Given the description of an element on the screen output the (x, y) to click on. 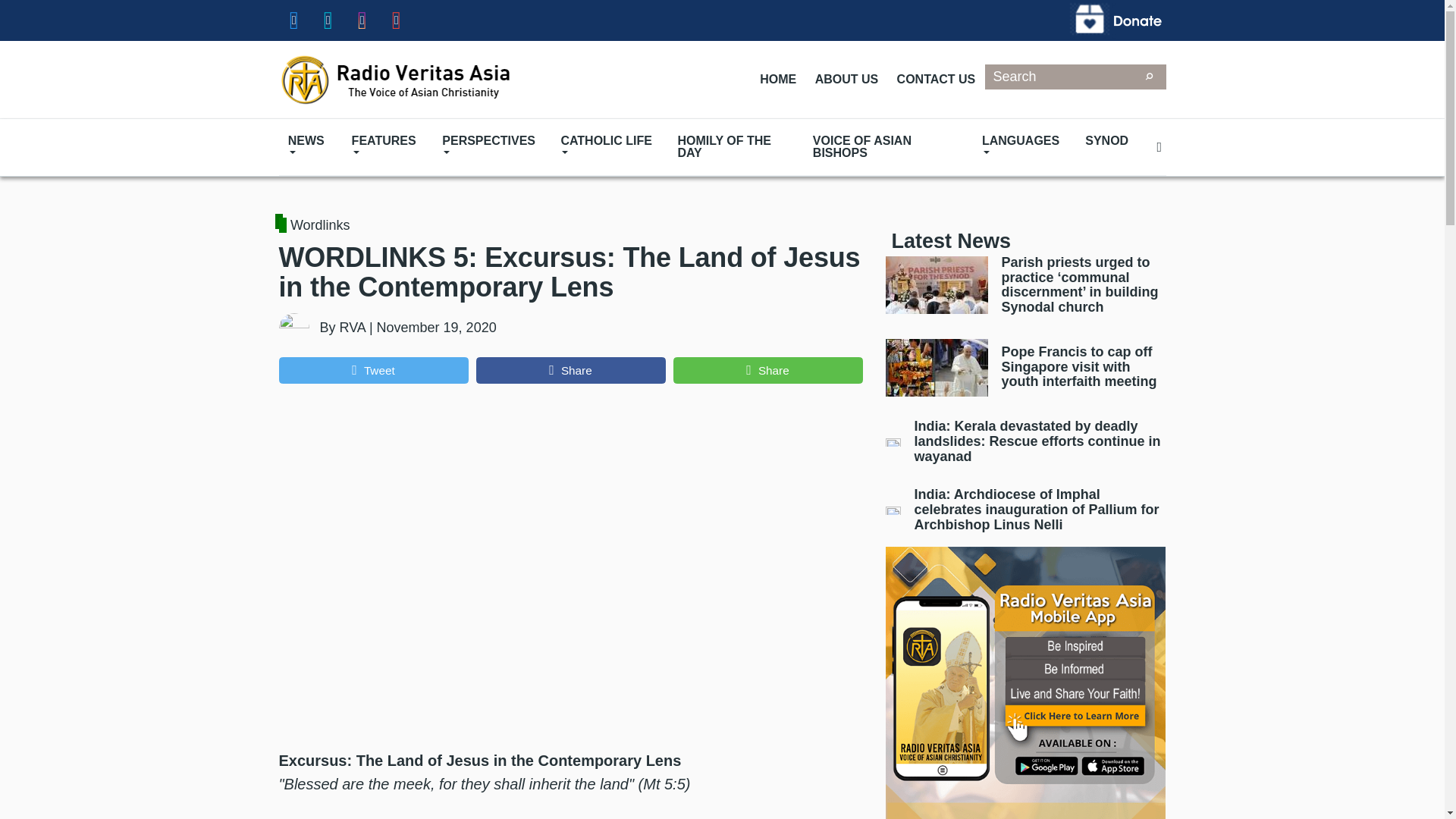
CONTACT US (935, 79)
NEWS (310, 147)
Share on Twitter (373, 370)
HOMILY OF THE DAY (735, 147)
LANGUAGES (1023, 147)
CATHOLIC LIFE (609, 147)
HOME (778, 79)
Enter the terms you wish to search for. (1059, 76)
FEATURES (387, 147)
Share on Whatsapp (767, 370)
Home (396, 78)
ABOUT US (845, 79)
PERSPECTIVES (491, 147)
Share on Facebook (570, 370)
VOICE OF ASIAN BISHOPS (887, 147)
